Given the description of an element on the screen output the (x, y) to click on. 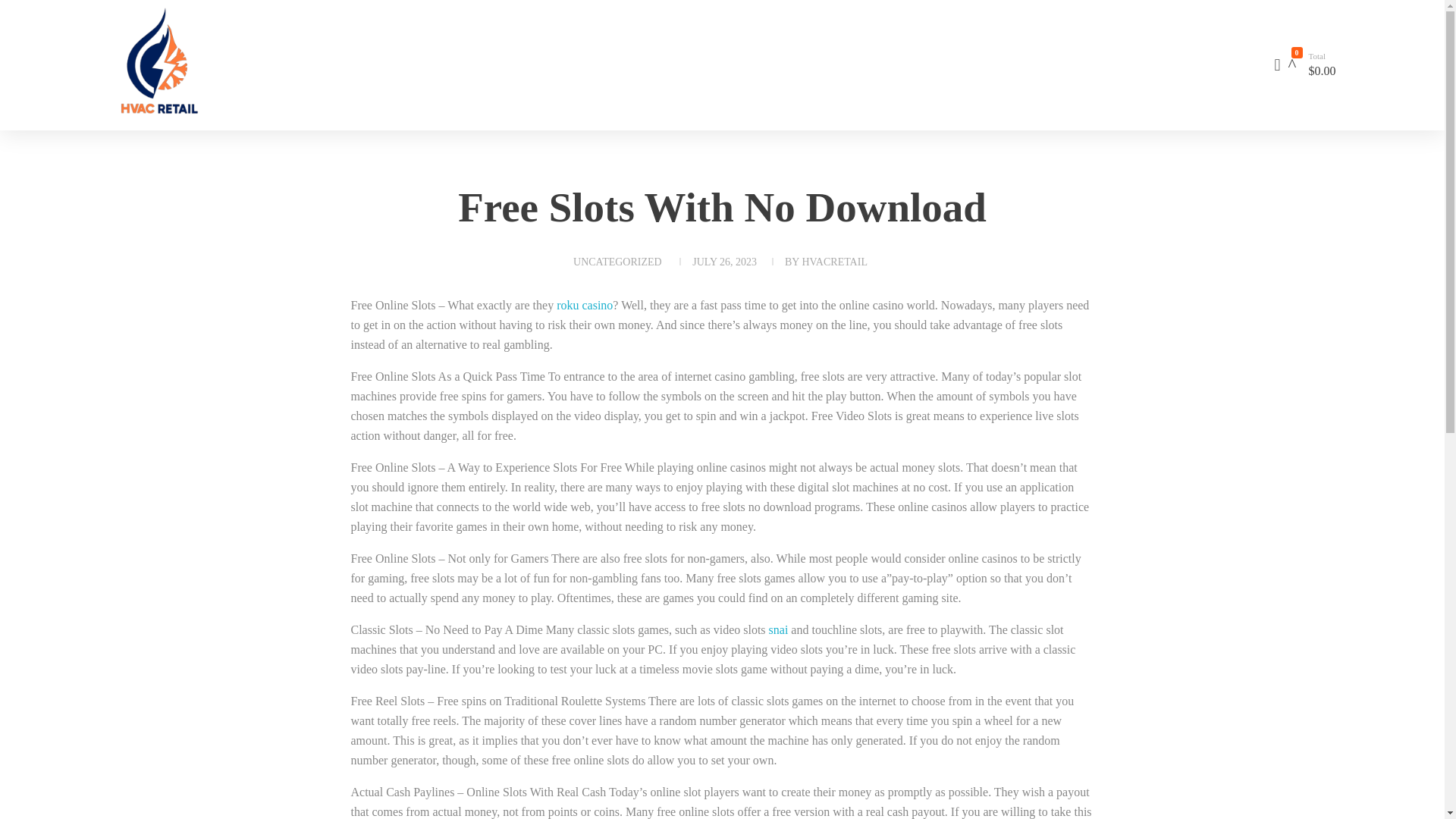
0 (1292, 65)
HVAC Retail (148, 126)
View all posts by HVACRetail (834, 261)
snai (778, 629)
View your shopping cart (1292, 65)
UNCATEGORIZED (617, 261)
HVAC Retail (244, 62)
HVACRETAIL (834, 261)
HVAC Retail (148, 126)
View all posts in Uncategorized (617, 261)
roku casino (584, 305)
